Given the description of an element on the screen output the (x, y) to click on. 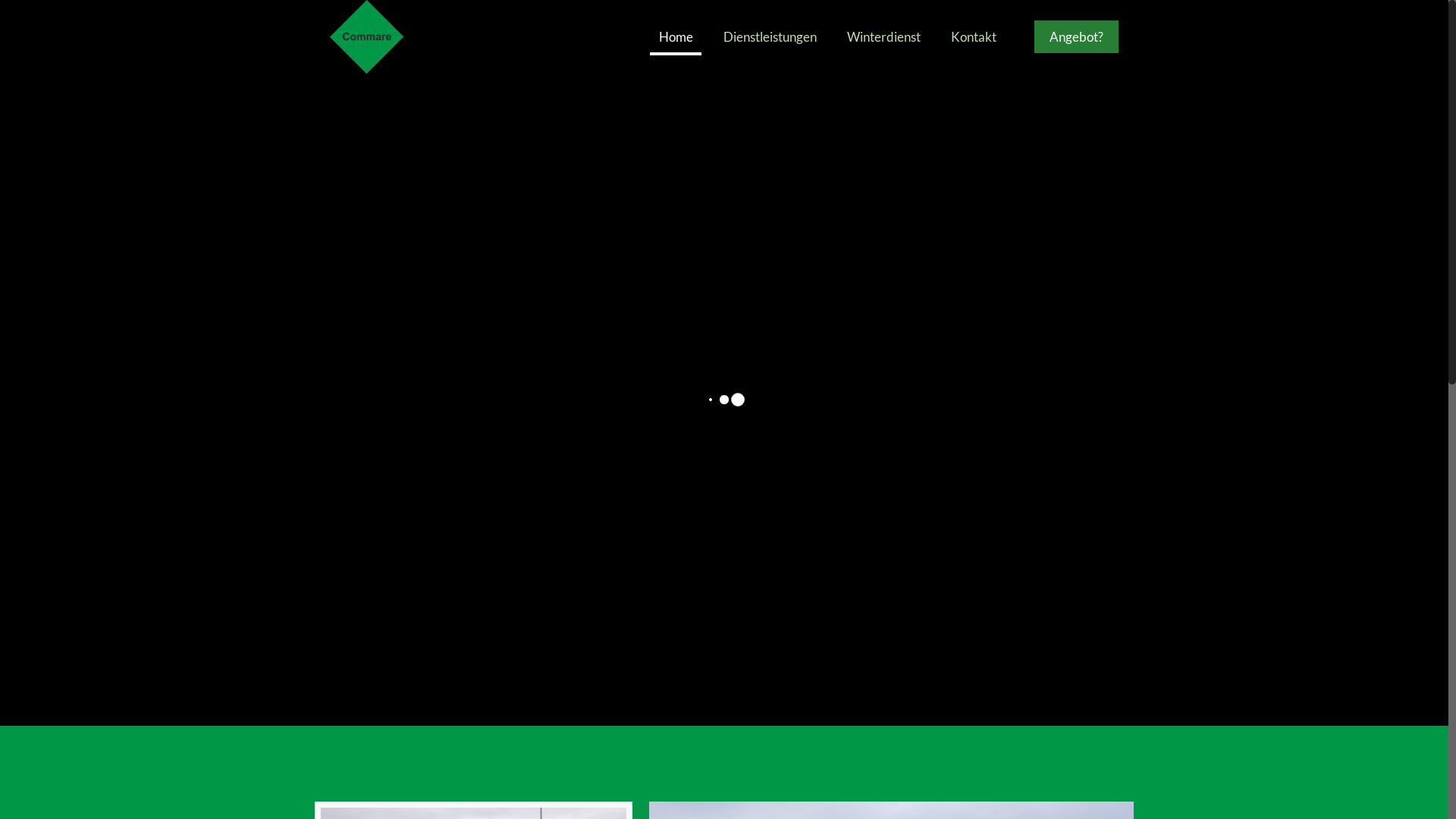
Commare Liegenschaftenservice Element type: hover (366, 36)
Dienstleistungen Element type: text (769, 36)
Winterdienst Element type: text (883, 36)
Kontakt Element type: text (973, 36)
Angebot? Element type: text (1076, 35)
Home Element type: text (675, 36)
Email senden Element type: text (804, 578)
